Given the description of an element on the screen output the (x, y) to click on. 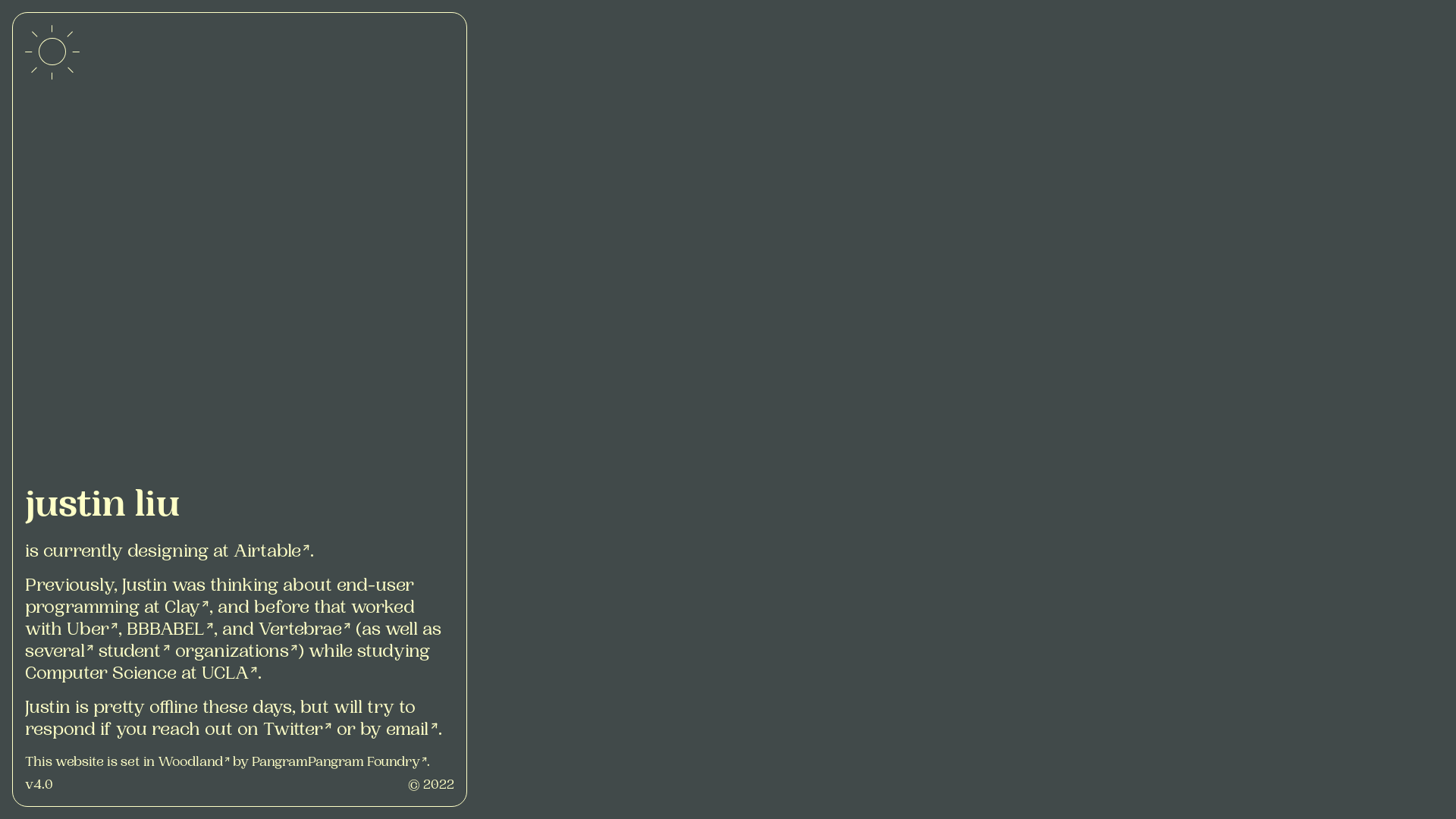
several Element type: text (59, 652)
PangramPangram Foundry Element type: text (338, 762)
Vertebrae Element type: text (304, 630)
Airtable Element type: text (271, 552)
Woodland Element type: text (193, 762)
UCLA Element type: text (229, 674)
Twitter Element type: text (297, 730)
email Element type: text (411, 730)
organizations Element type: text (236, 652)
Uber Element type: text (92, 630)
Clay Element type: text (186, 608)
BBBABEL Element type: text (169, 630)
student Element type: text (133, 652)
